Given the description of an element on the screen output the (x, y) to click on. 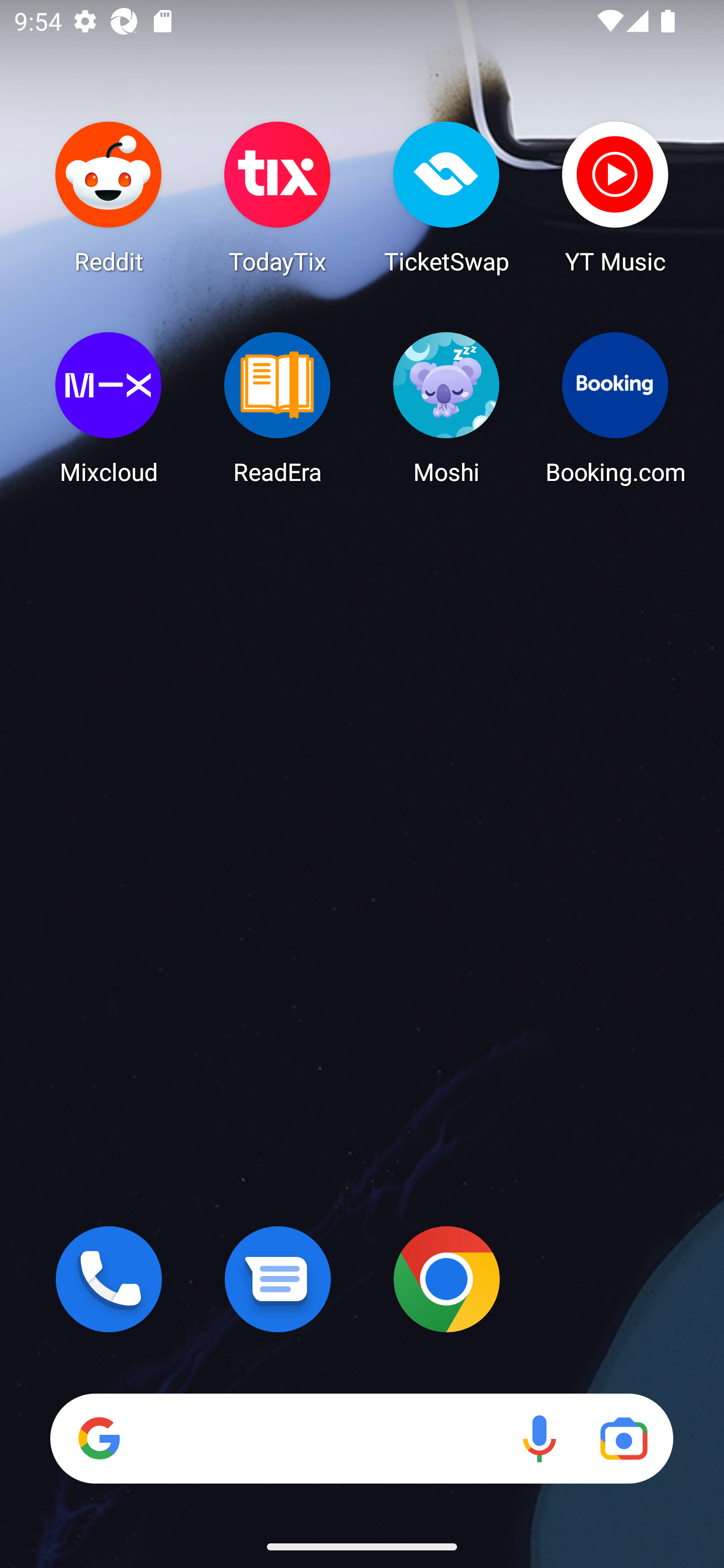
Reddit (108, 196)
TodayTix (277, 196)
TicketSwap (445, 196)
YT Music (615, 196)
Mixcloud (108, 407)
ReadEra (277, 407)
Moshi (445, 407)
Booking.com (615, 407)
Phone (108, 1279)
Messages (277, 1279)
Chrome (446, 1279)
Search Voice search Google Lens (361, 1438)
Voice search (539, 1438)
Google Lens (623, 1438)
